Given the description of an element on the screen output the (x, y) to click on. 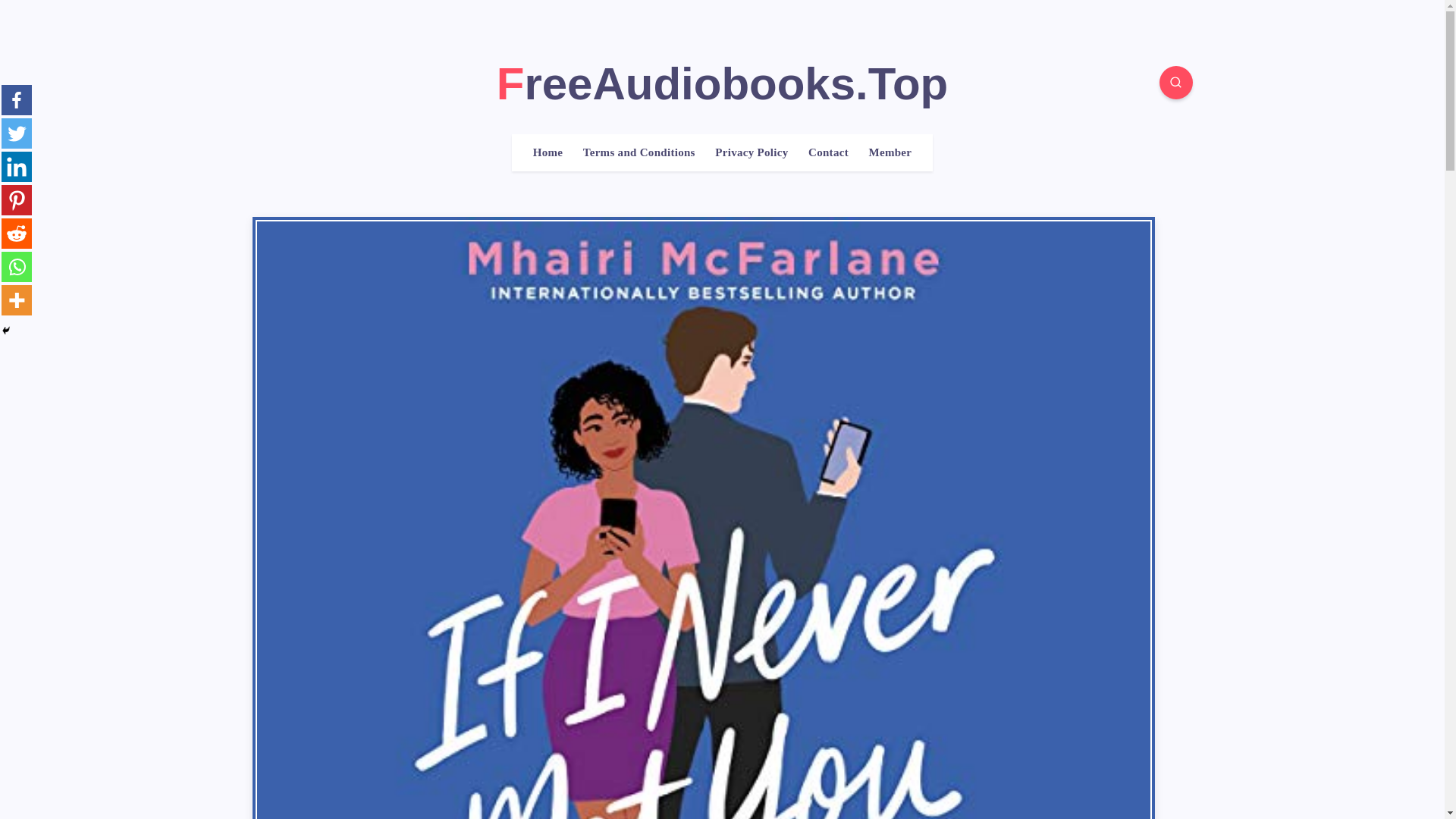
Twitter (16, 132)
Reddit (16, 233)
Facebook (16, 100)
FreeAudiobooks.Top (722, 83)
Privacy Policy (750, 152)
Linkedin (16, 166)
Home (547, 152)
Terms and Conditions (639, 152)
Pinterest (16, 200)
Contact (828, 152)
Member (889, 152)
